Given the description of an element on the screen output the (x, y) to click on. 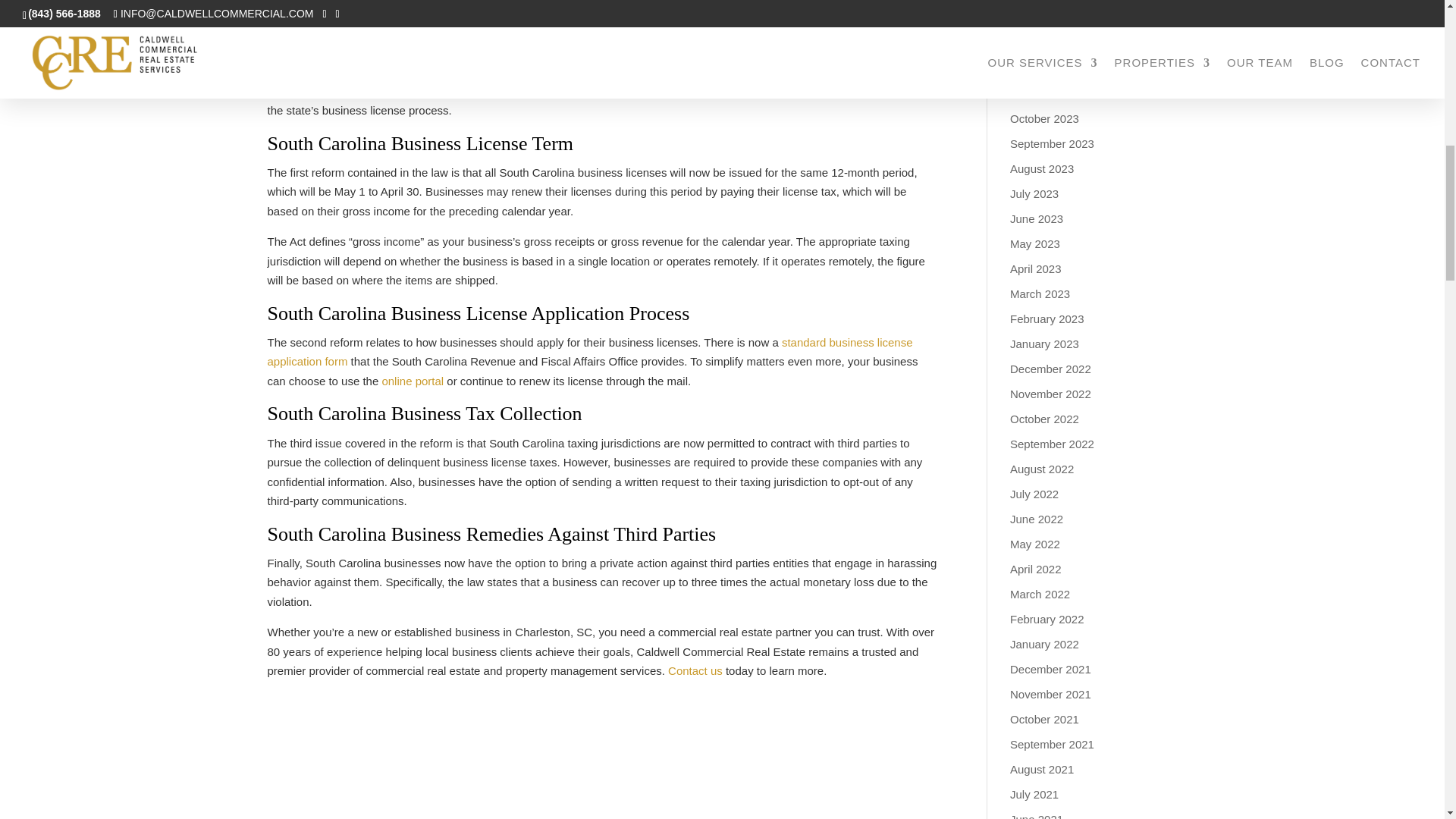
standard business license application form (589, 351)
South Carolina Business License Tax Standardization Act (572, 61)
